Given the description of an element on the screen output the (x, y) to click on. 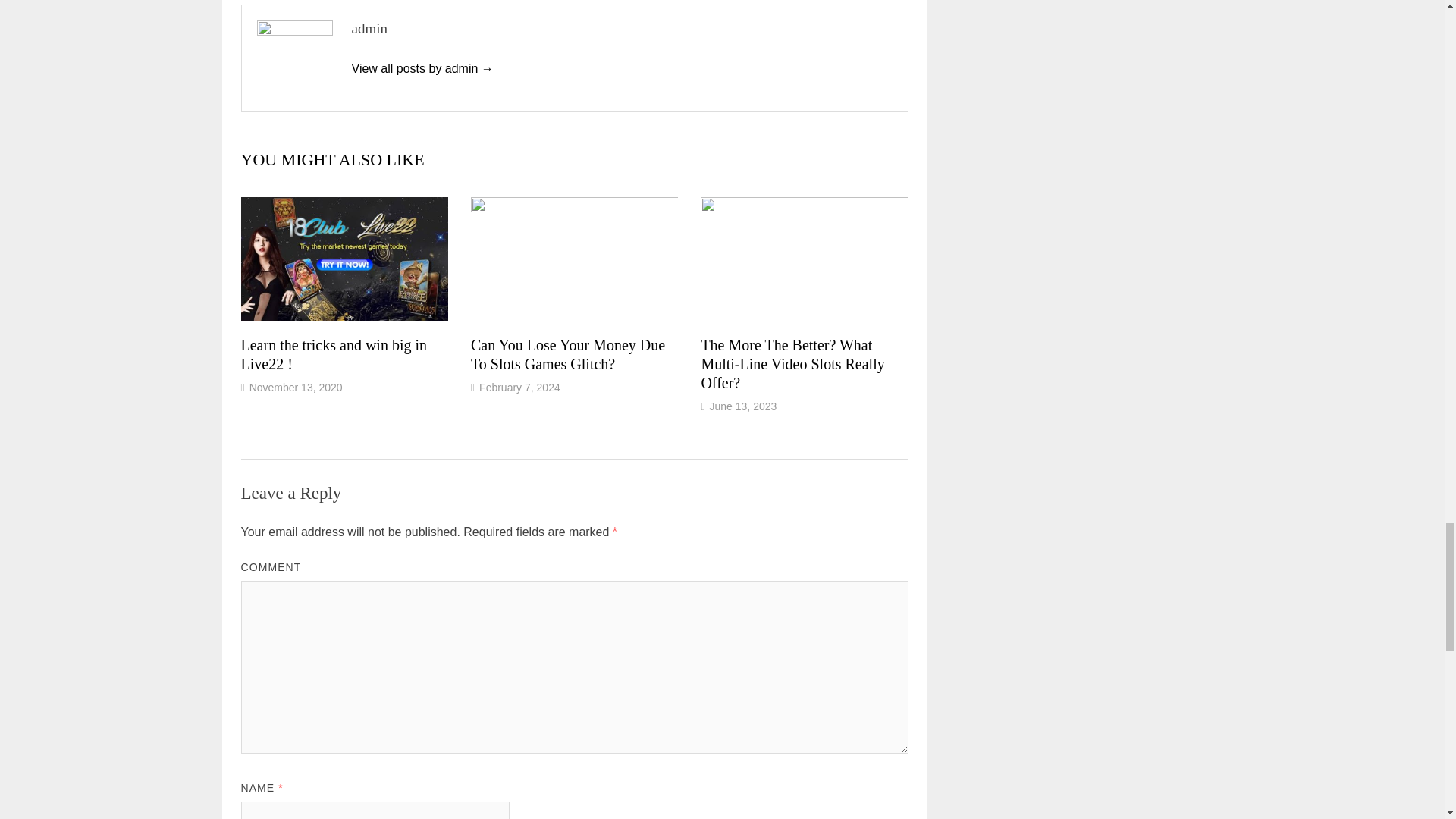
February 7, 2024 (519, 387)
Learn the tricks and win big in Live22 ! (334, 354)
Can You Lose Your Money Due To Slots Games Glitch? (567, 354)
June 13, 2023 (743, 406)
Can You Lose Your Money Due To Slots Games Glitch? (567, 354)
admin (422, 68)
Learn the tricks and win big in Live22 ! (334, 354)
November 13, 2020 (295, 387)
